Given the description of an element on the screen output the (x, y) to click on. 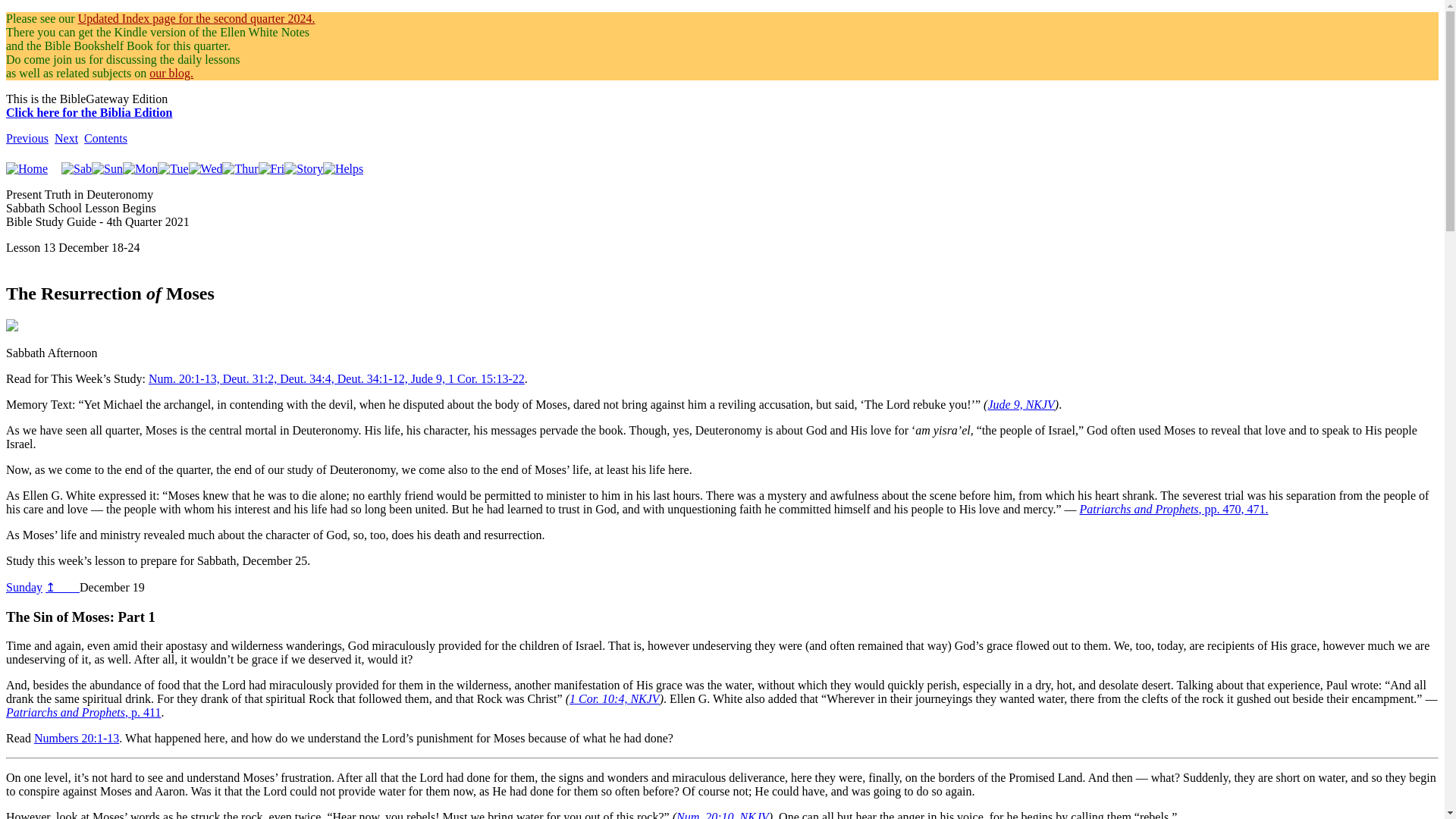
Updated Index page for the second quarter 2024. (196, 18)
Click here for the Biblia Edition (88, 119)
Align Upwards (23, 586)
our blog. (171, 72)
1 Cor. 10:4, NKJV (614, 698)
Sunday (23, 586)
Numbers 20:1-13 (76, 738)
Next (66, 137)
Contents (106, 137)
Patriarchs and Prophets, p. 411 (82, 712)
Go to top of the page (62, 586)
Num. 20:10, NKJV (722, 814)
Previous (26, 137)
Jude 9, NKJV (1020, 404)
